Given the description of an element on the screen output the (x, y) to click on. 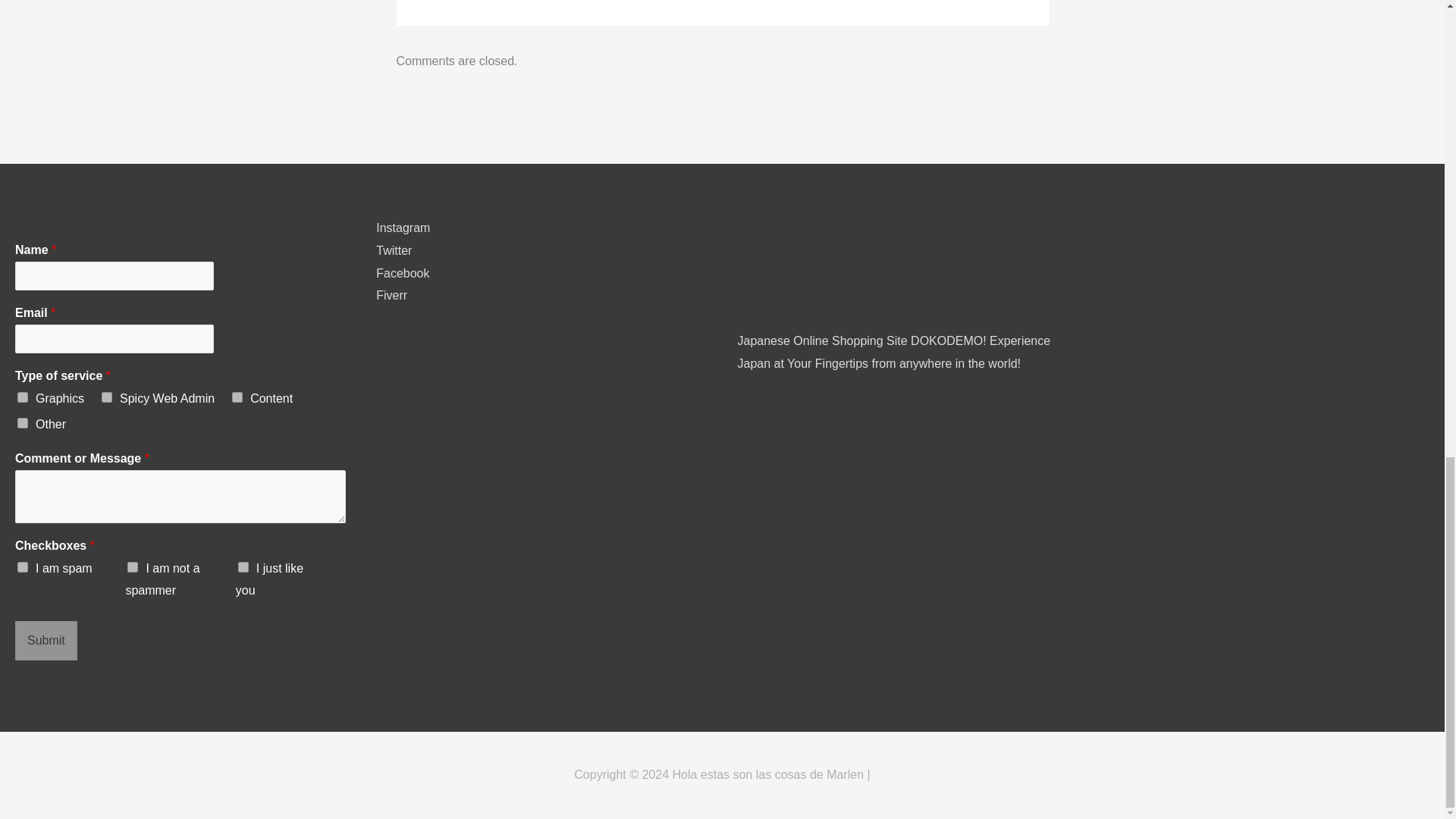
I just like you (243, 566)
Fiverr (391, 295)
Twitter (393, 250)
I am not a spammer (133, 566)
Instagram (402, 227)
Facebook (402, 273)
Graphics (22, 397)
Spicy Web Admin (106, 397)
Other (22, 422)
